Given the description of an element on the screen output the (x, y) to click on. 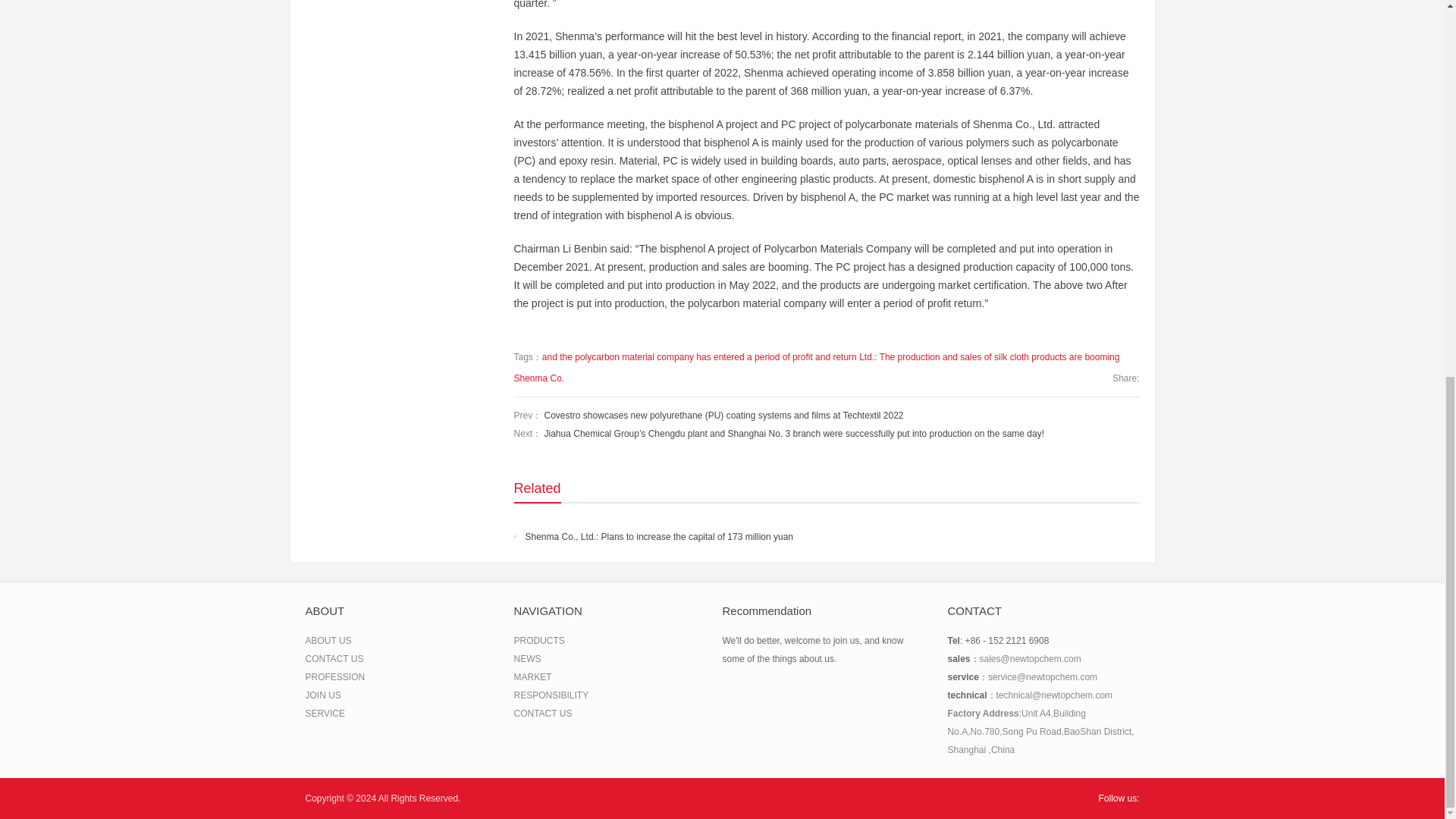
Shenma Co. (538, 378)
NEWS (527, 658)
ABOUT US (327, 640)
MARKET (532, 676)
JOIN US (322, 695)
PRODUCTS (538, 640)
SERVICE (323, 713)
PROFESSION (334, 676)
